Given the description of an element on the screen output the (x, y) to click on. 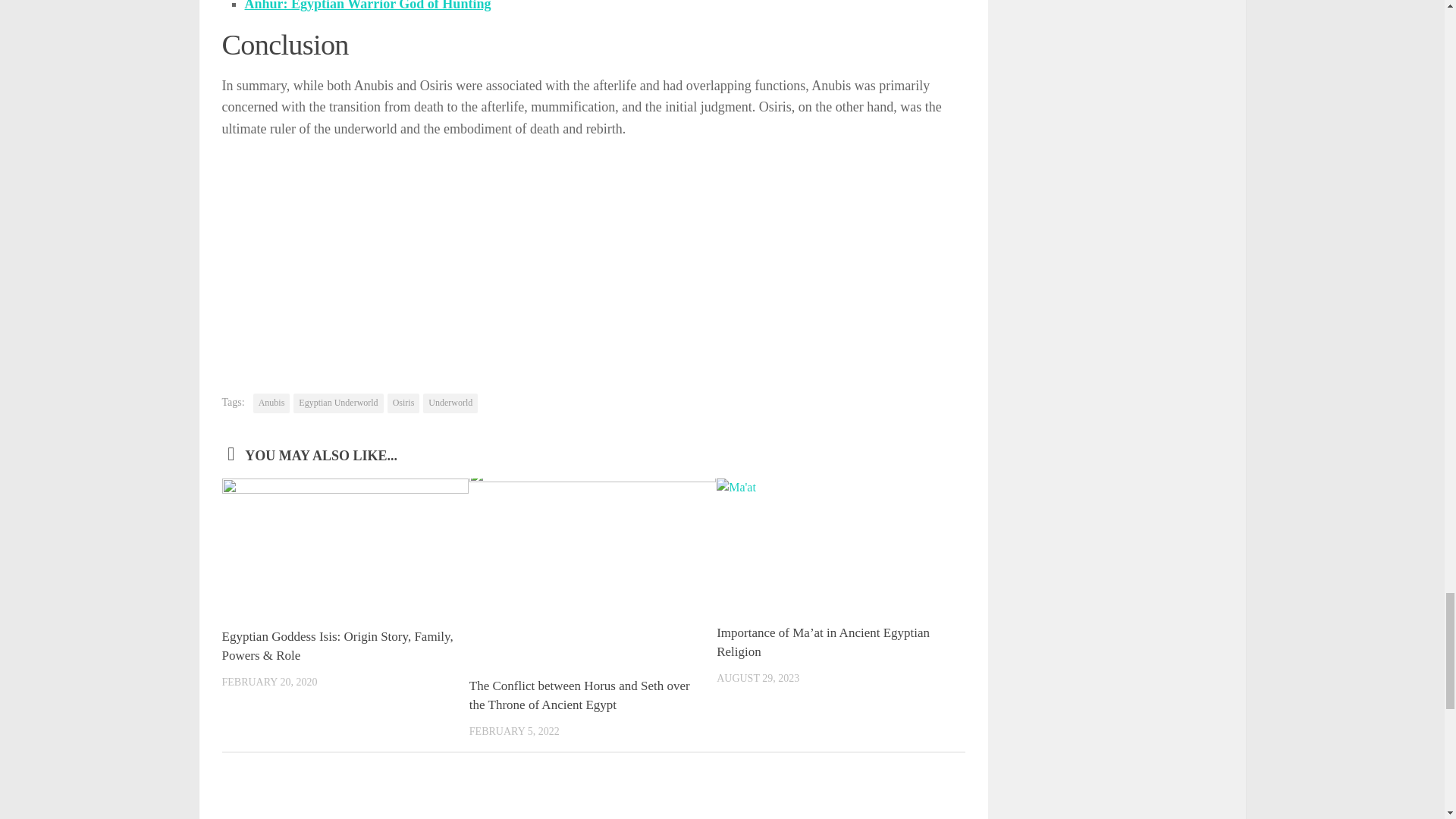
Anubis (271, 403)
Osiris (403, 403)
Underworld (450, 403)
Egyptian Underworld (338, 403)
Anhur: Egyptian Warrior God of Hunting (367, 5)
